Given the description of an element on the screen output the (x, y) to click on. 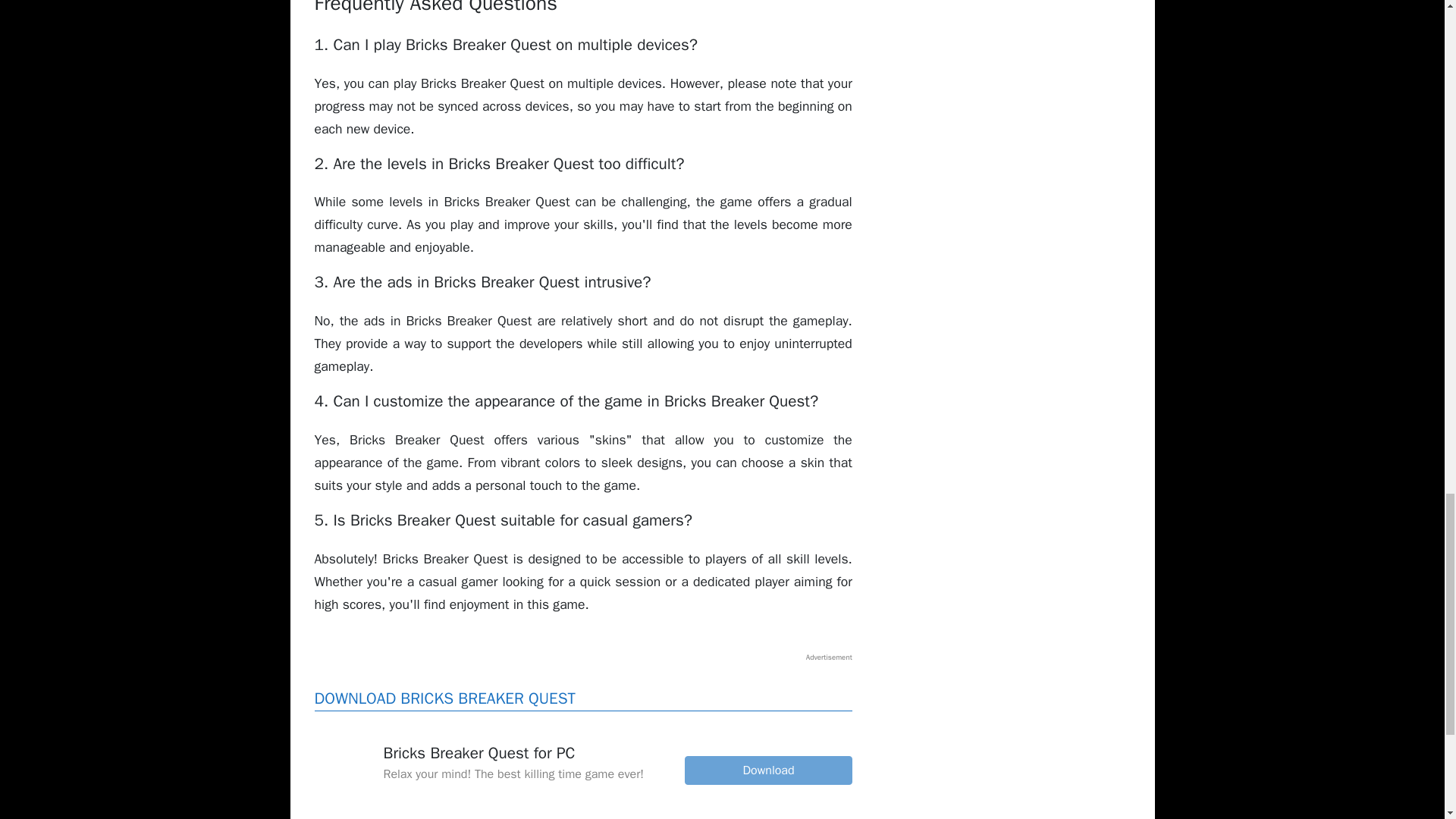
Download (767, 769)
Bricks Breaker Quest (767, 769)
Bricks Breaker Quest for PC (342, 763)
